Given the description of an element on the screen output the (x, y) to click on. 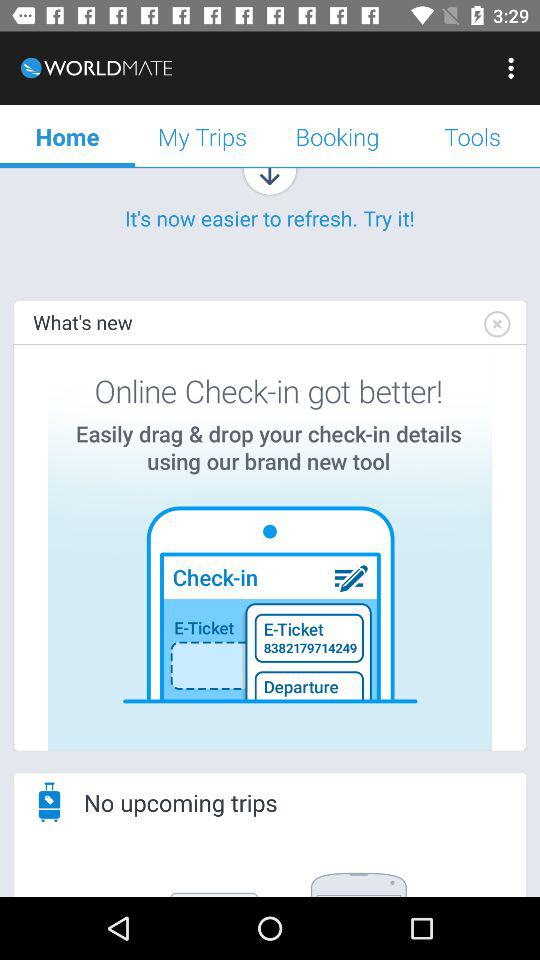
turn on icon to the right of booking app (472, 136)
